Given the description of an element on the screen output the (x, y) to click on. 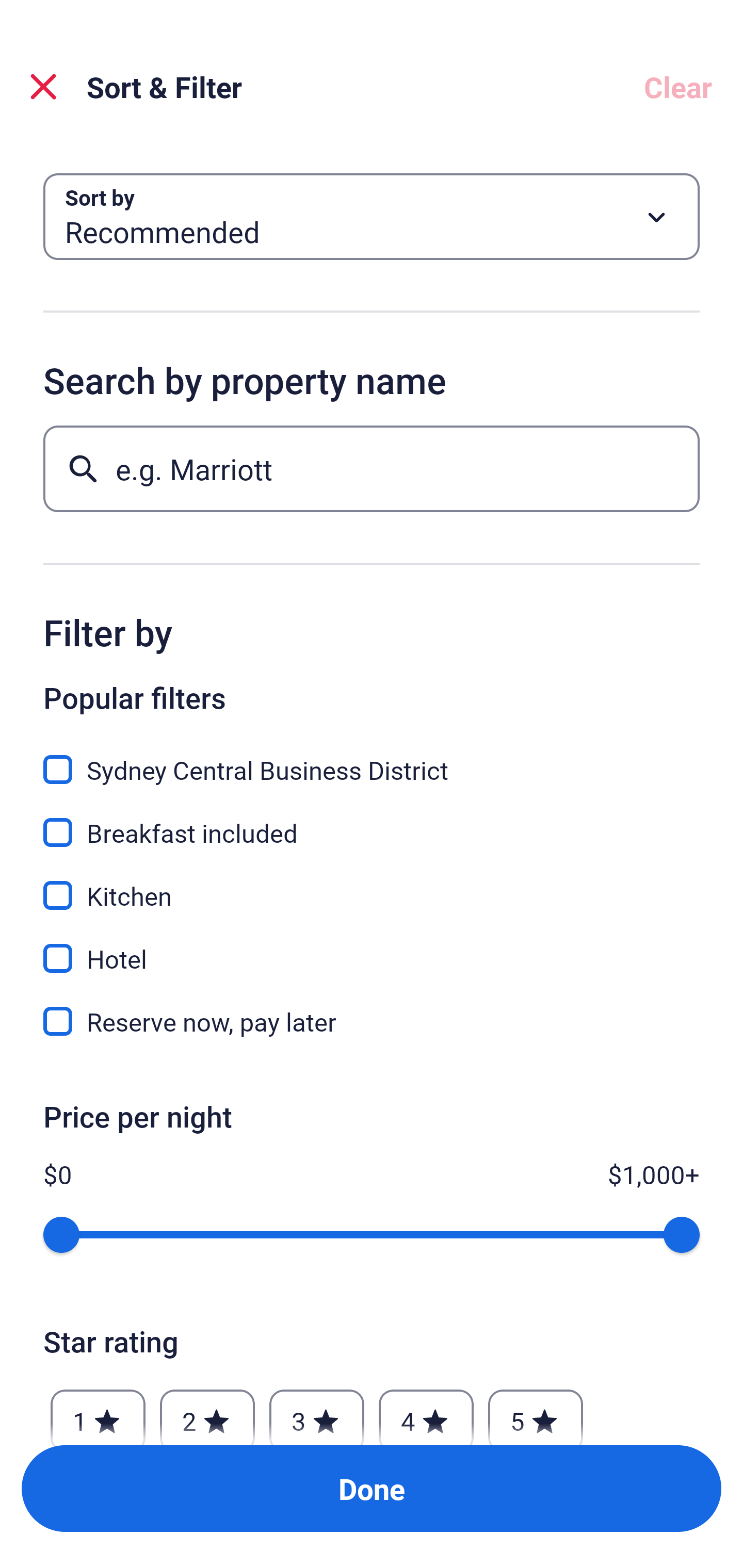
Close Sort and Filter (43, 86)
Clear (677, 86)
Sort by Button Recommended (371, 217)
e.g. Marriott Button (371, 468)
Breakfast included, Breakfast included (371, 821)
Kitchen, Kitchen (371, 883)
Hotel, Hotel (371, 946)
Reserve now, pay later, Reserve now, pay later (371, 1021)
1 (97, 1411)
2 (206, 1411)
3 (316, 1411)
4 (426, 1411)
5 (535, 1411)
Apply and close Sort and Filter Done (371, 1488)
